Given the description of an element on the screen output the (x, y) to click on. 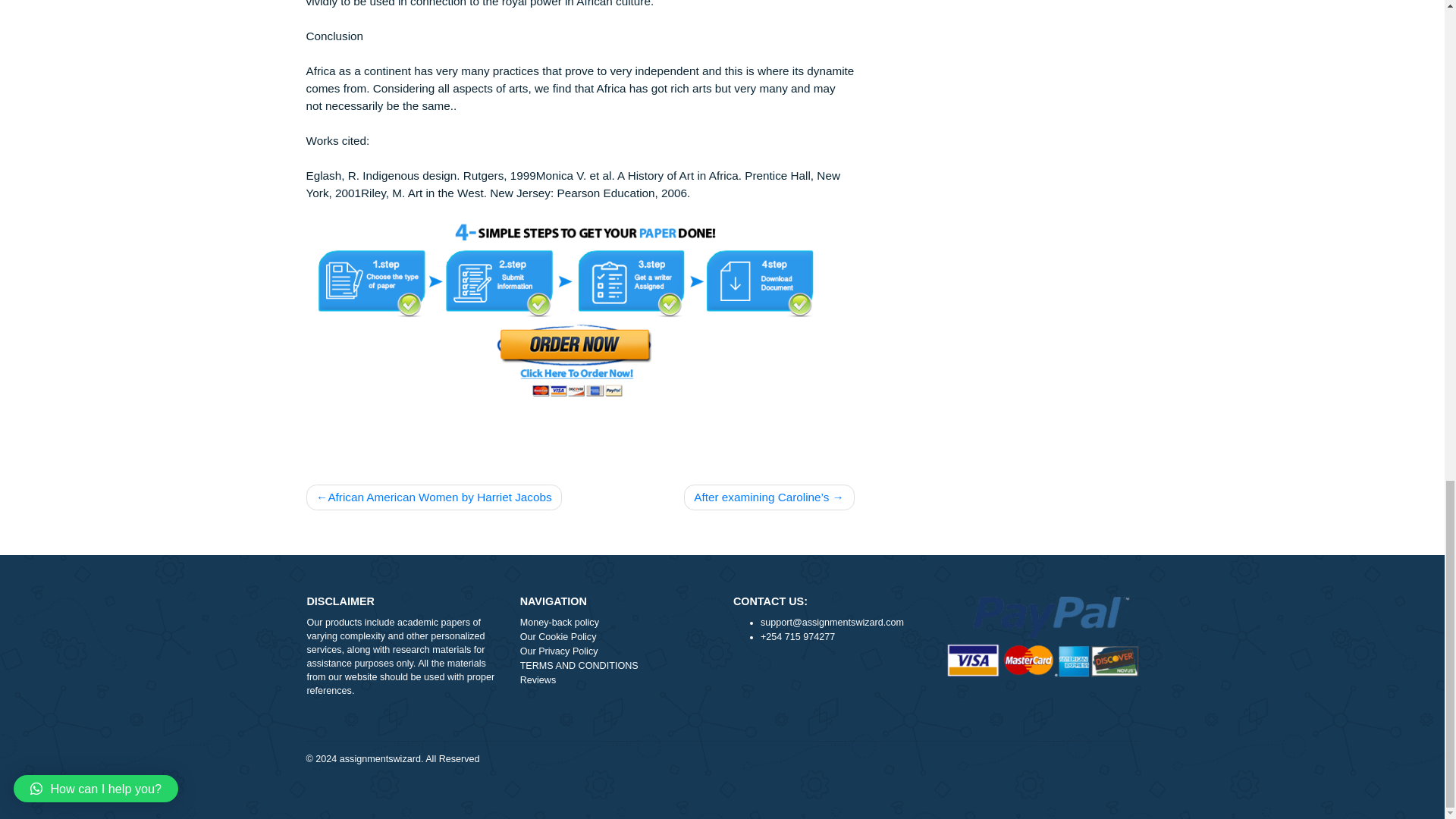
Money-back policy (685, 816)
African American Women by Harriet Jacobs (481, 683)
